Given the description of an element on the screen output the (x, y) to click on. 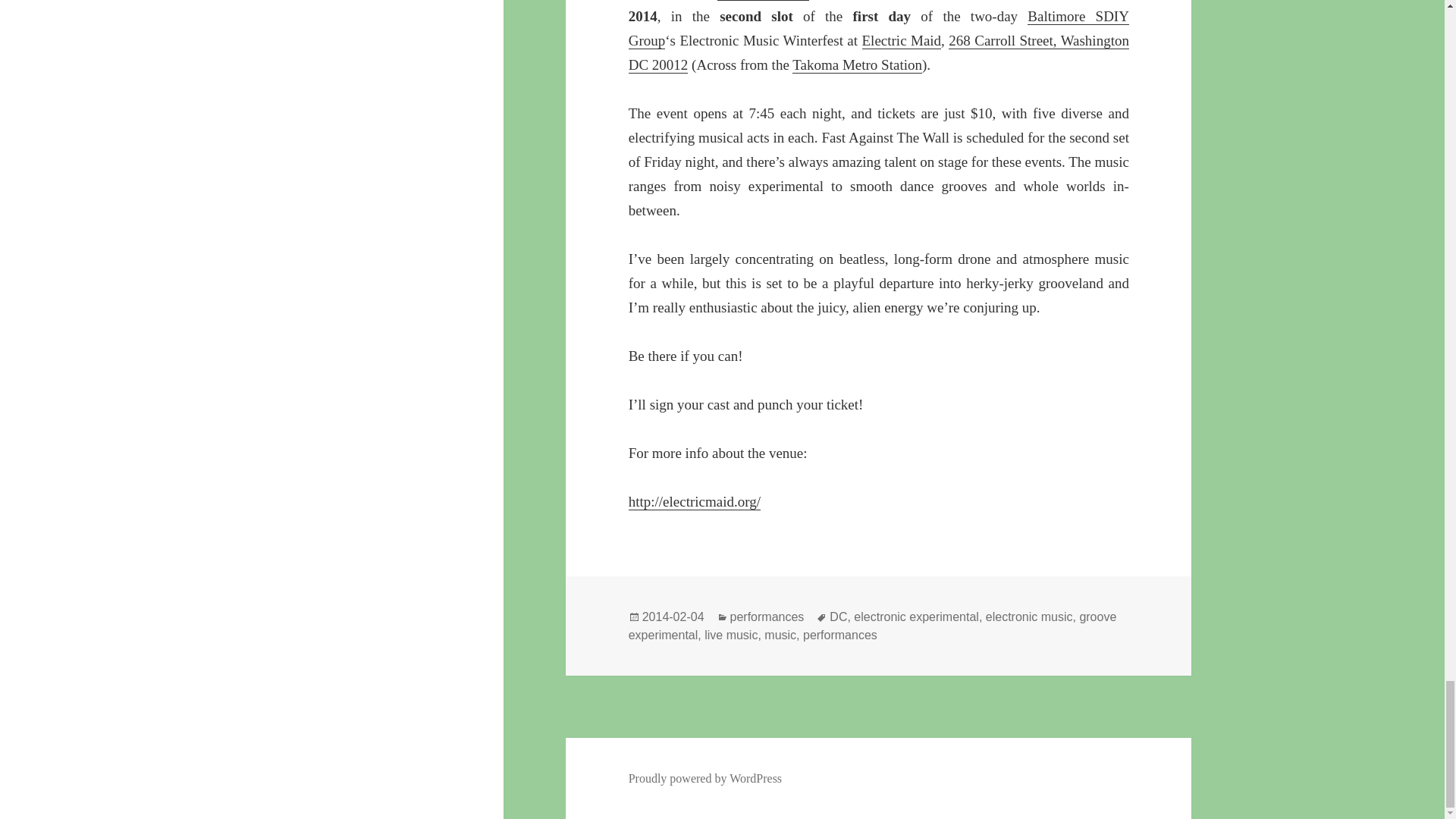
Electric Maid (900, 40)
Map to Electric Maid venue location (878, 52)
Baltimore SDIY Group (878, 28)
WMATA Takoma Metro Station (856, 64)
Electric Maid (694, 501)
